Given the description of an element on the screen output the (x, y) to click on. 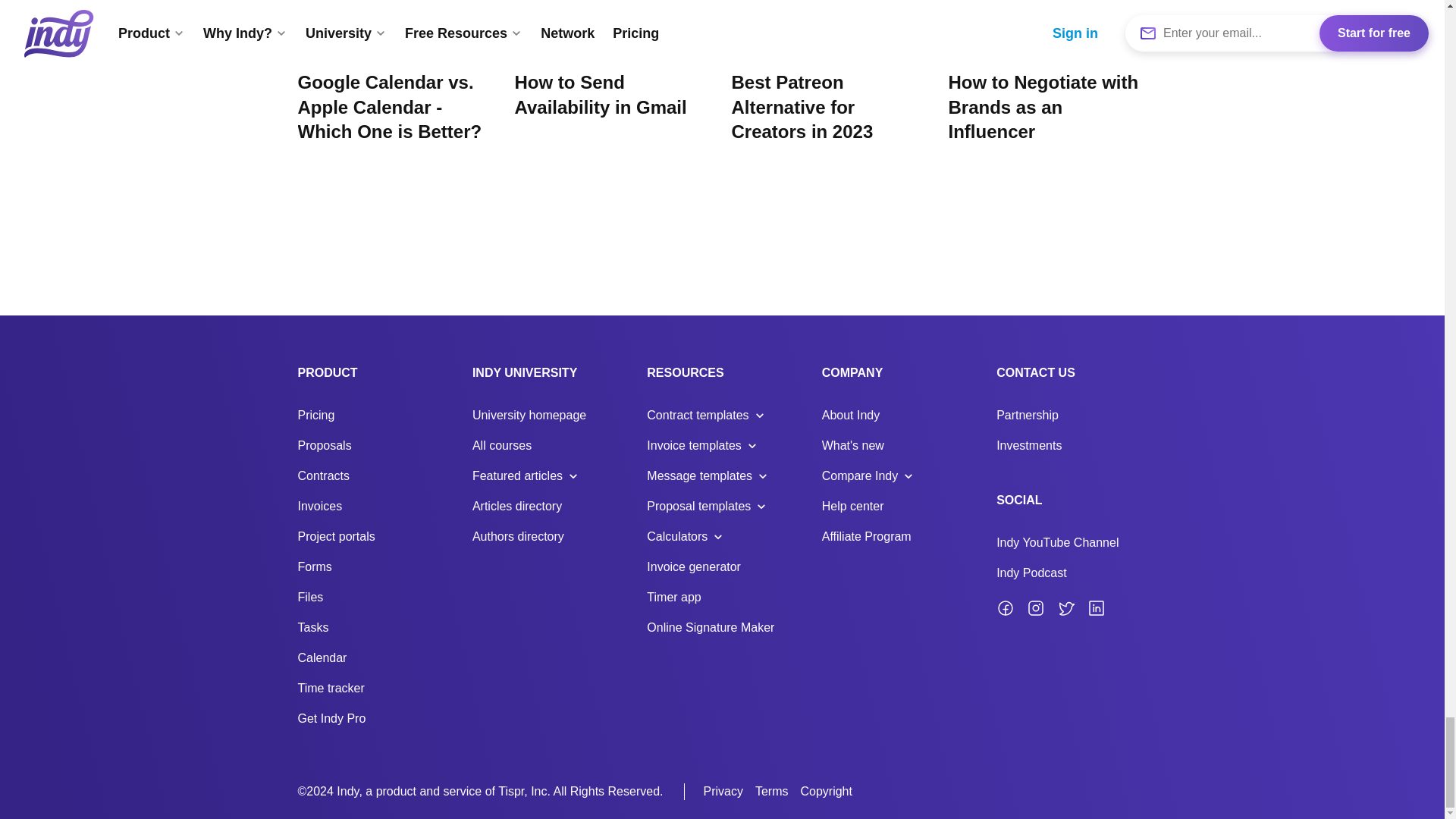
How to Send Availability in Gmail (611, 94)
MARKETING (828, 54)
MANAGE YOUR TIME (394, 54)
RELATIONSHIP BUILDING (1044, 54)
BE MORE PRODUCTIVE (611, 54)
How to Negotiate with Brands as an Influencer (1044, 107)
Best Patreon Alternative for Creators in 2023 (828, 107)
Google Calendar vs. Apple Calendar - Which One is Better? (394, 107)
